Given the description of an element on the screen output the (x, y) to click on. 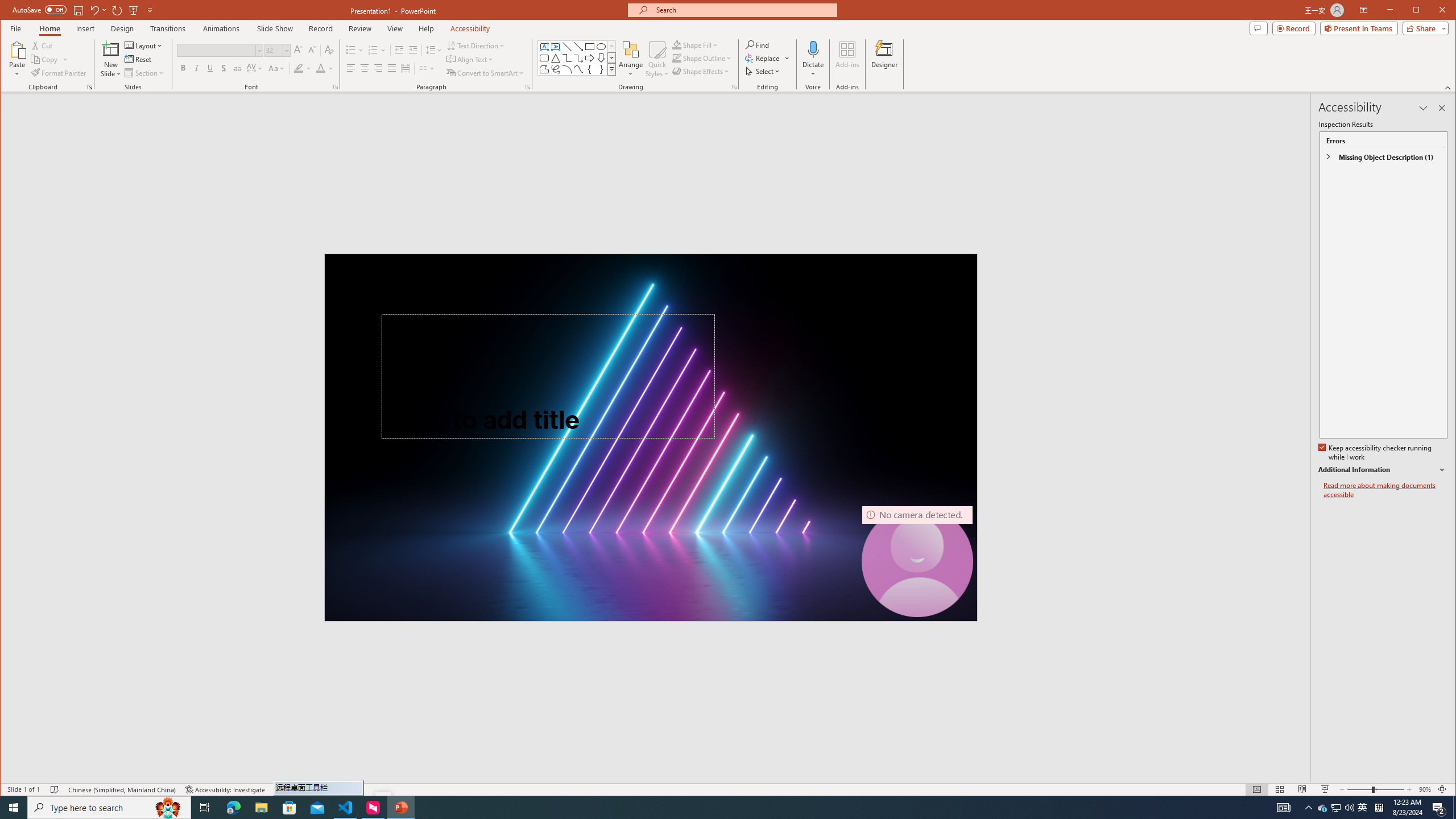
Shape Effects (702, 70)
